Given the description of an element on the screen output the (x, y) to click on. 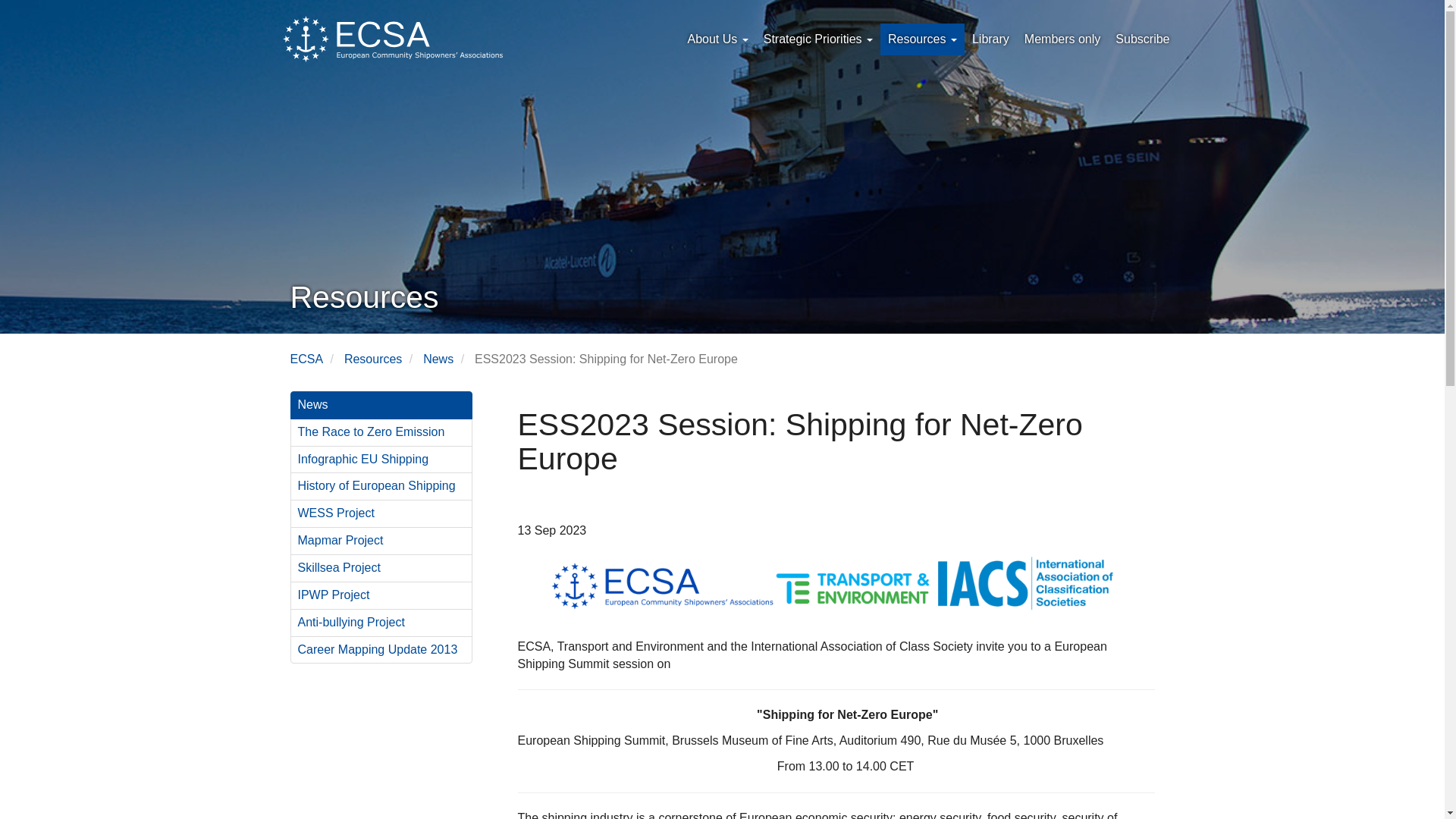
Infographic EU Shipping (381, 459)
News (381, 405)
Members only (1062, 39)
Library (989, 39)
Strategic Priorities (817, 39)
Subscribe (1142, 39)
The Race to Zero Emission (381, 432)
ECSA (306, 358)
About Us (717, 39)
Resources (921, 39)
